Given the description of an element on the screen output the (x, y) to click on. 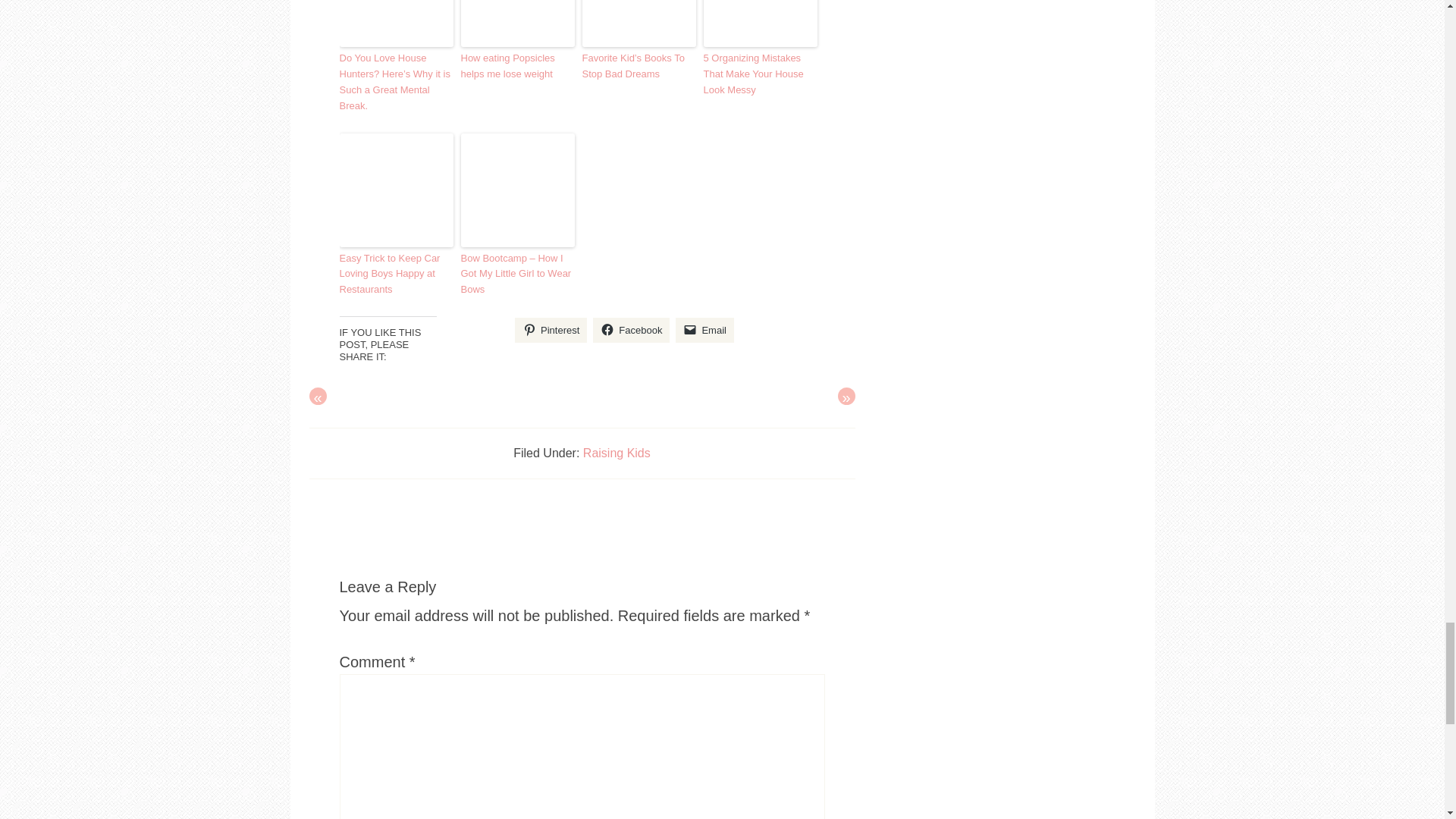
Click to share on Pinterest (550, 330)
How eating Popsicles helps me lose weight (518, 66)
Email (704, 330)
Easy Trick to Keep Car Loving Boys Happy at Restaurants (395, 274)
Facebook (630, 330)
Pinterest (550, 330)
Click to email a link to a friend (704, 330)
Click to share on Facebook (630, 330)
5 Organizing Mistakes That Make Your House Look Messy (759, 73)
